Given the description of an element on the screen output the (x, y) to click on. 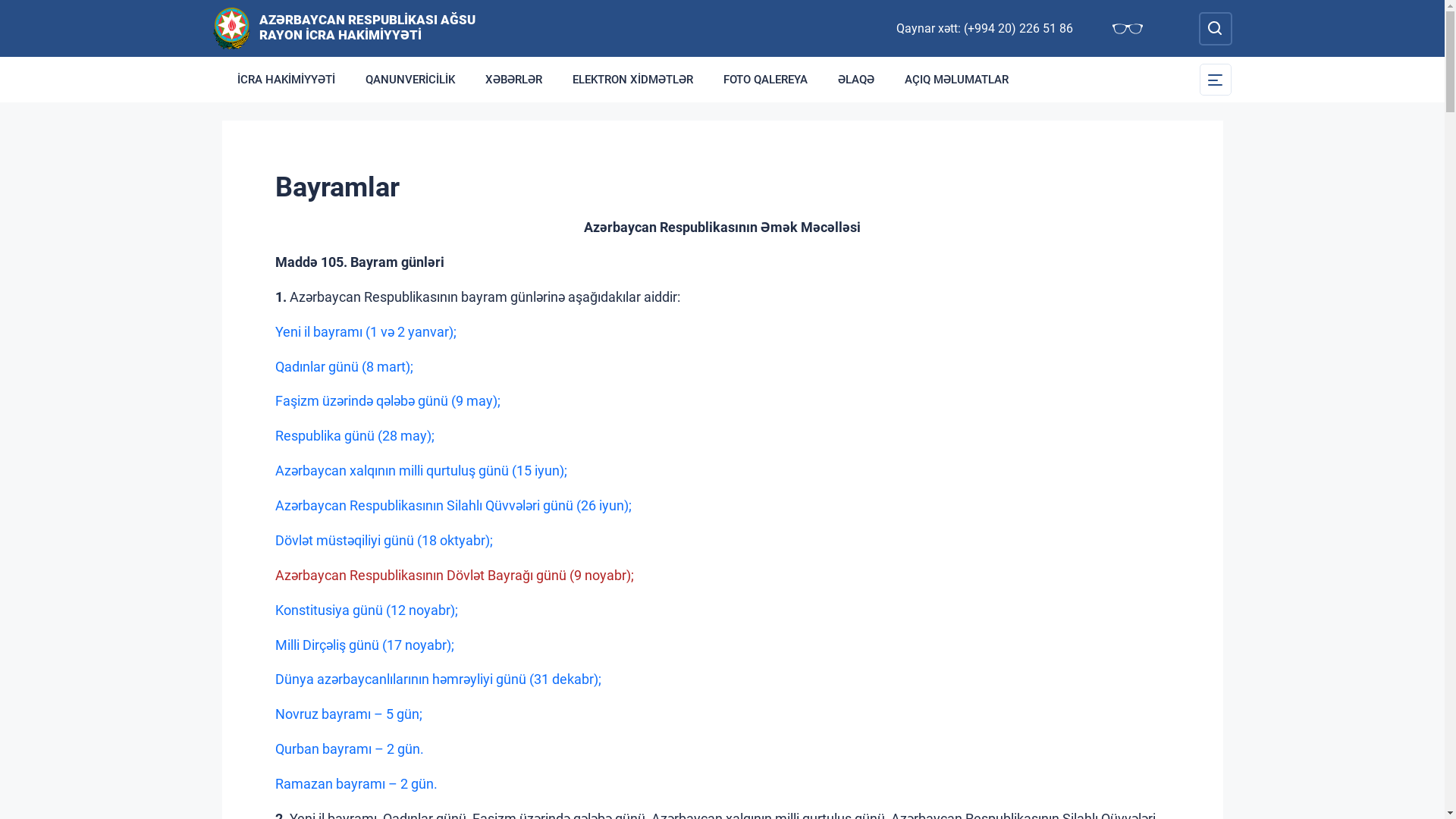
QANUNVERICILIK Element type: text (410, 79)
FOTO QALEREYA Element type: text (765, 79)
